Given the description of an element on the screen output the (x, y) to click on. 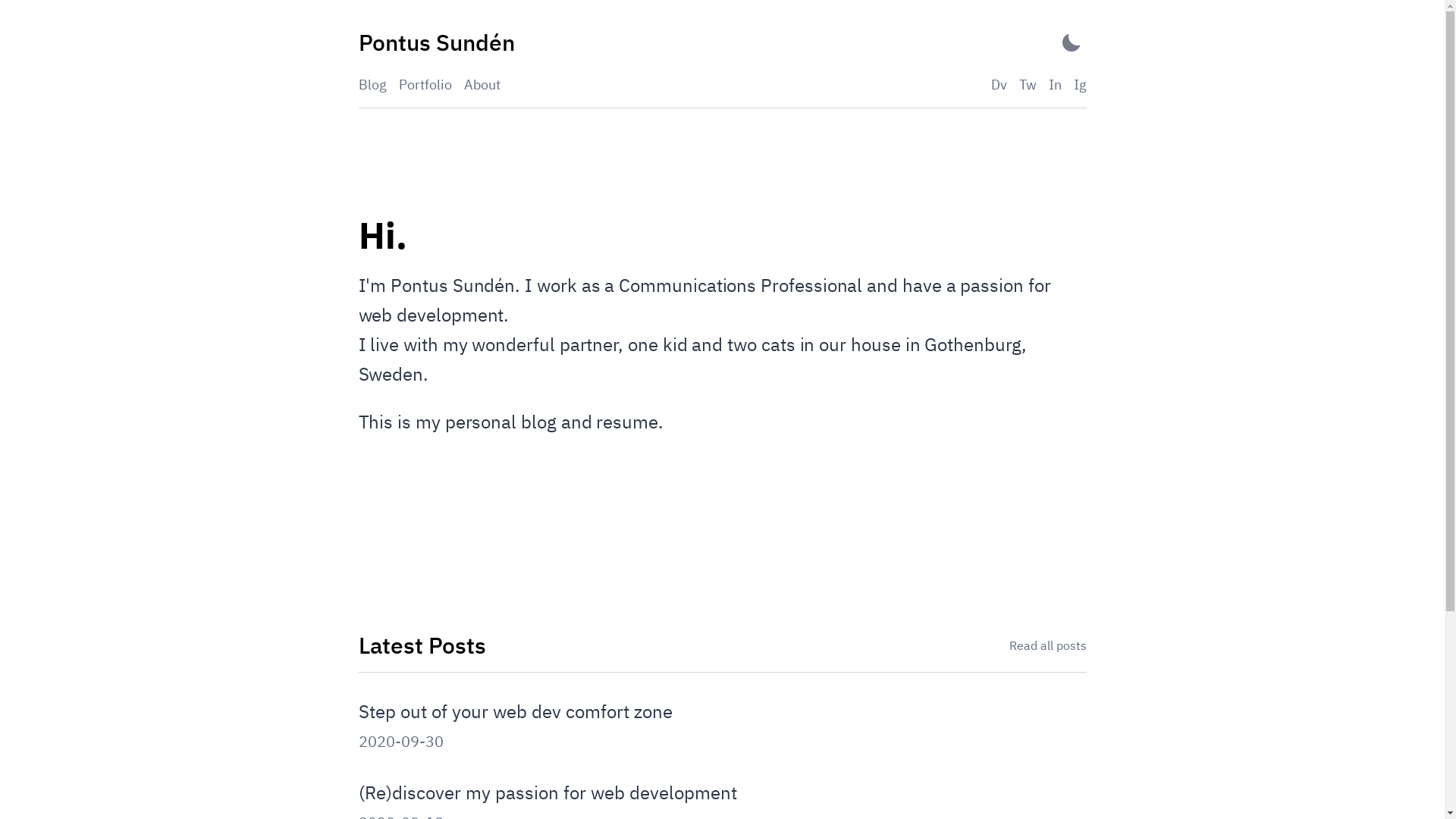
In Element type: text (1054, 84)
Dv Element type: text (998, 84)
(Re)discover my passion for web development Element type: text (546, 792)
Portfolio Element type: text (424, 84)
Activate Dark Mode Element type: hover (1070, 42)
Step out of your web dev comfort zone Element type: text (514, 711)
Blog Element type: text (371, 84)
Read all posts Element type: text (1046, 644)
Tw Element type: text (1027, 84)
About Element type: text (482, 84)
Ig Element type: text (1079, 84)
